Given the description of an element on the screen output the (x, y) to click on. 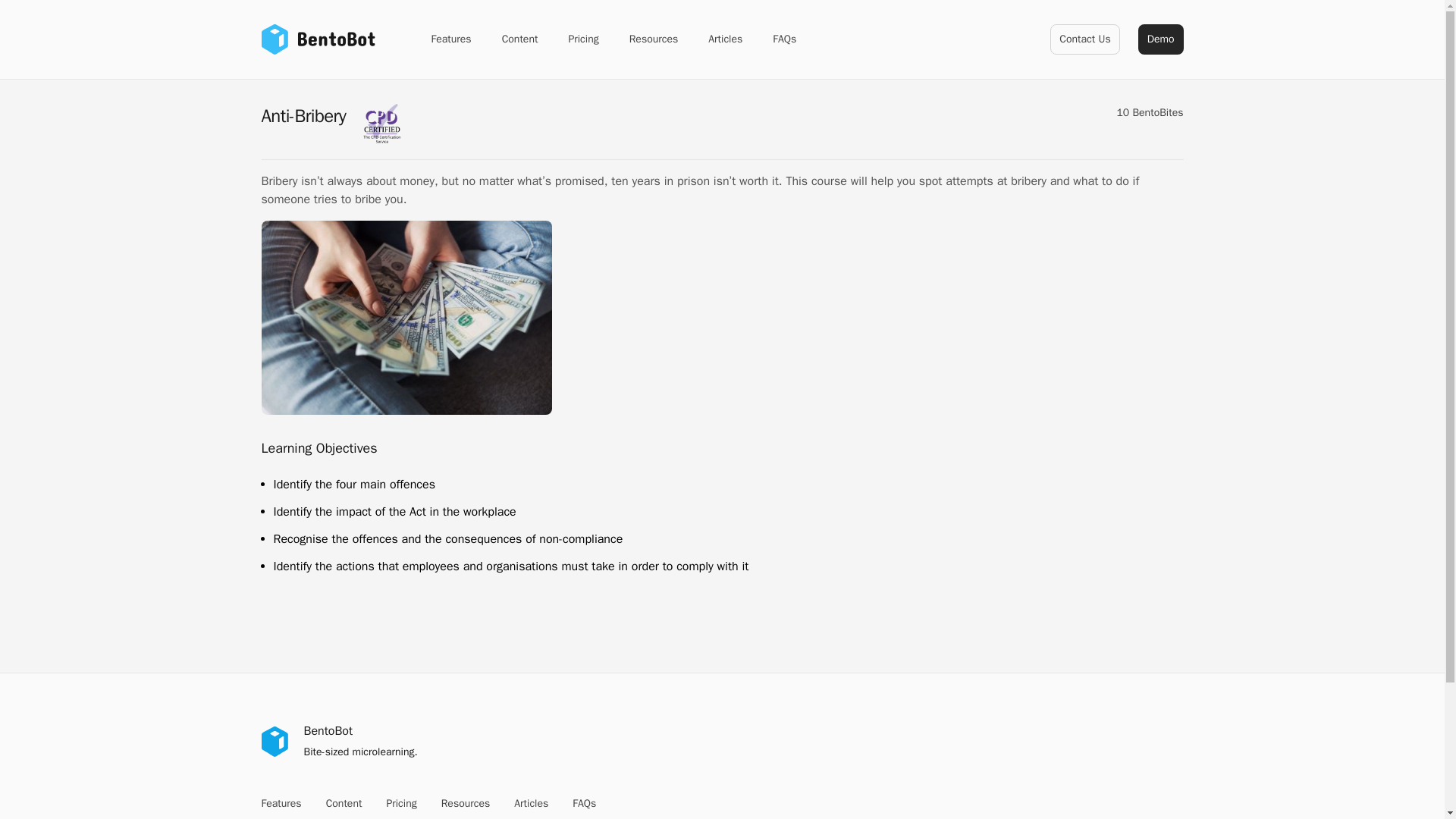
Pricing (583, 39)
Resources (465, 803)
Contact Us (1084, 39)
Features (451, 39)
Articles (724, 39)
Content (344, 803)
Articles (531, 803)
Pricing (401, 803)
Demo (1160, 39)
Content (520, 39)
FAQs (783, 39)
Features (280, 803)
Resources (653, 39)
FAQs (584, 803)
